Given the description of an element on the screen output the (x, y) to click on. 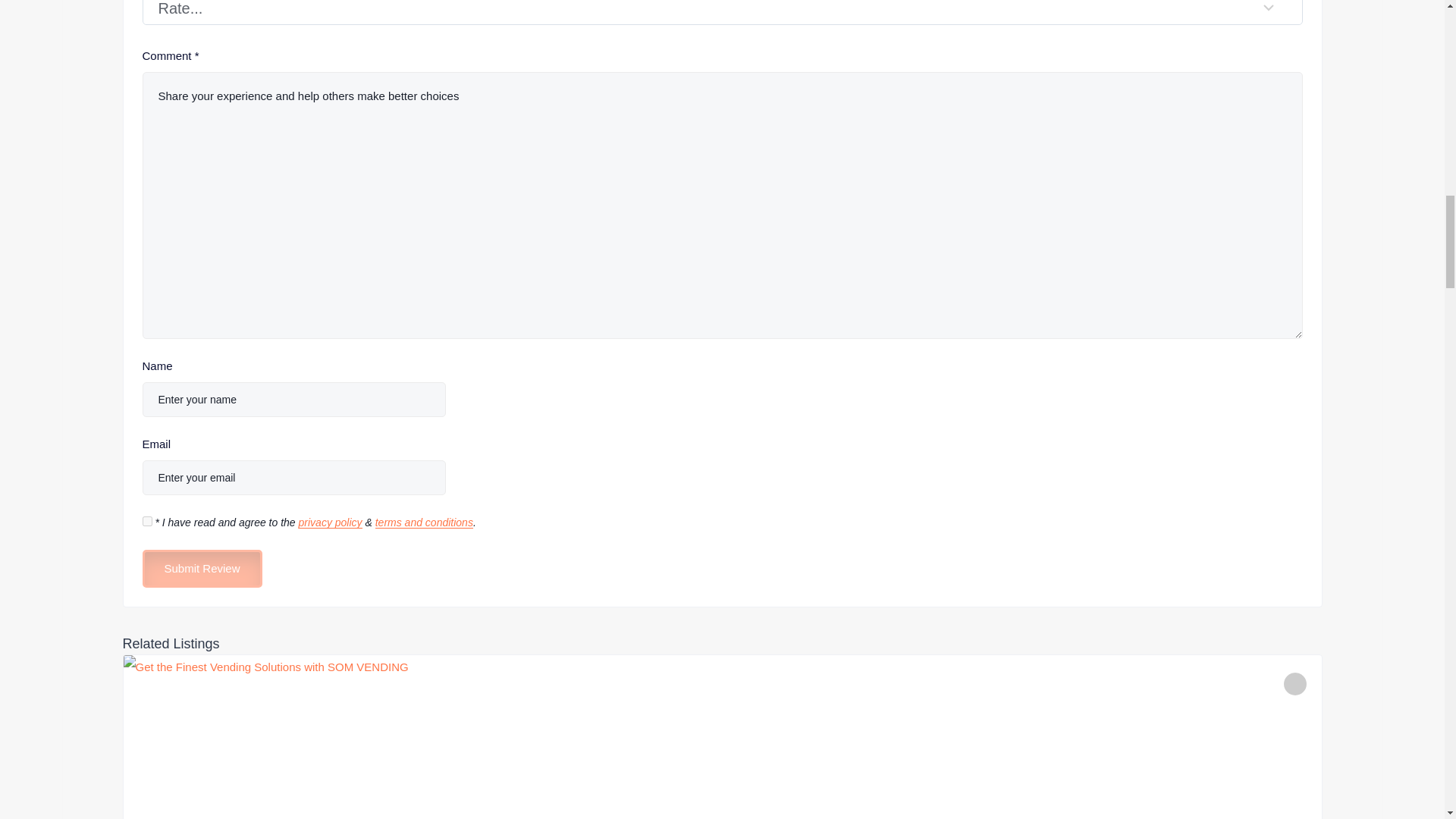
yes (147, 521)
